Given the description of an element on the screen output the (x, y) to click on. 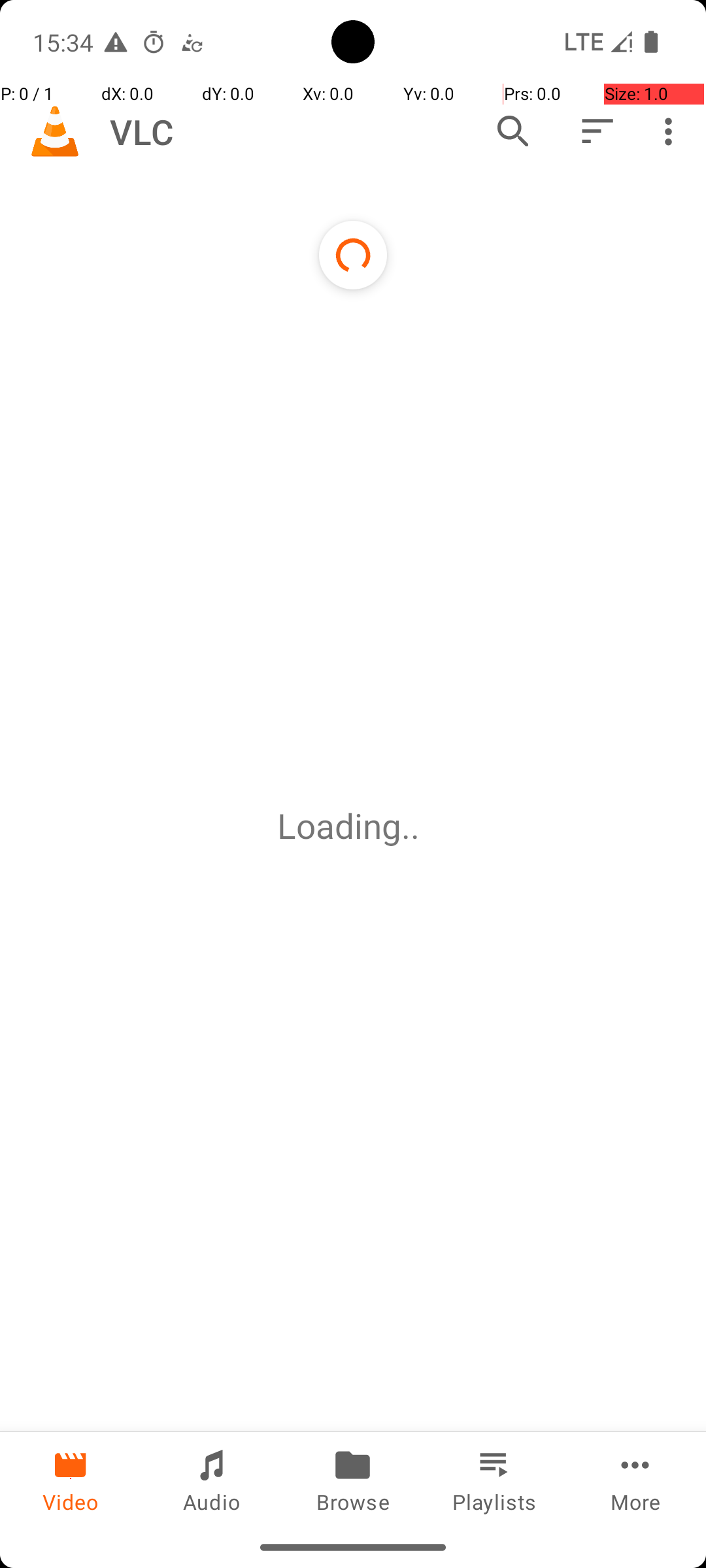
.. Element type: android.widget.TextView (414, 825)
VLC notification: Scanning for media files Element type: android.widget.ImageView (191, 41)
